Given the description of an element on the screen output the (x, y) to click on. 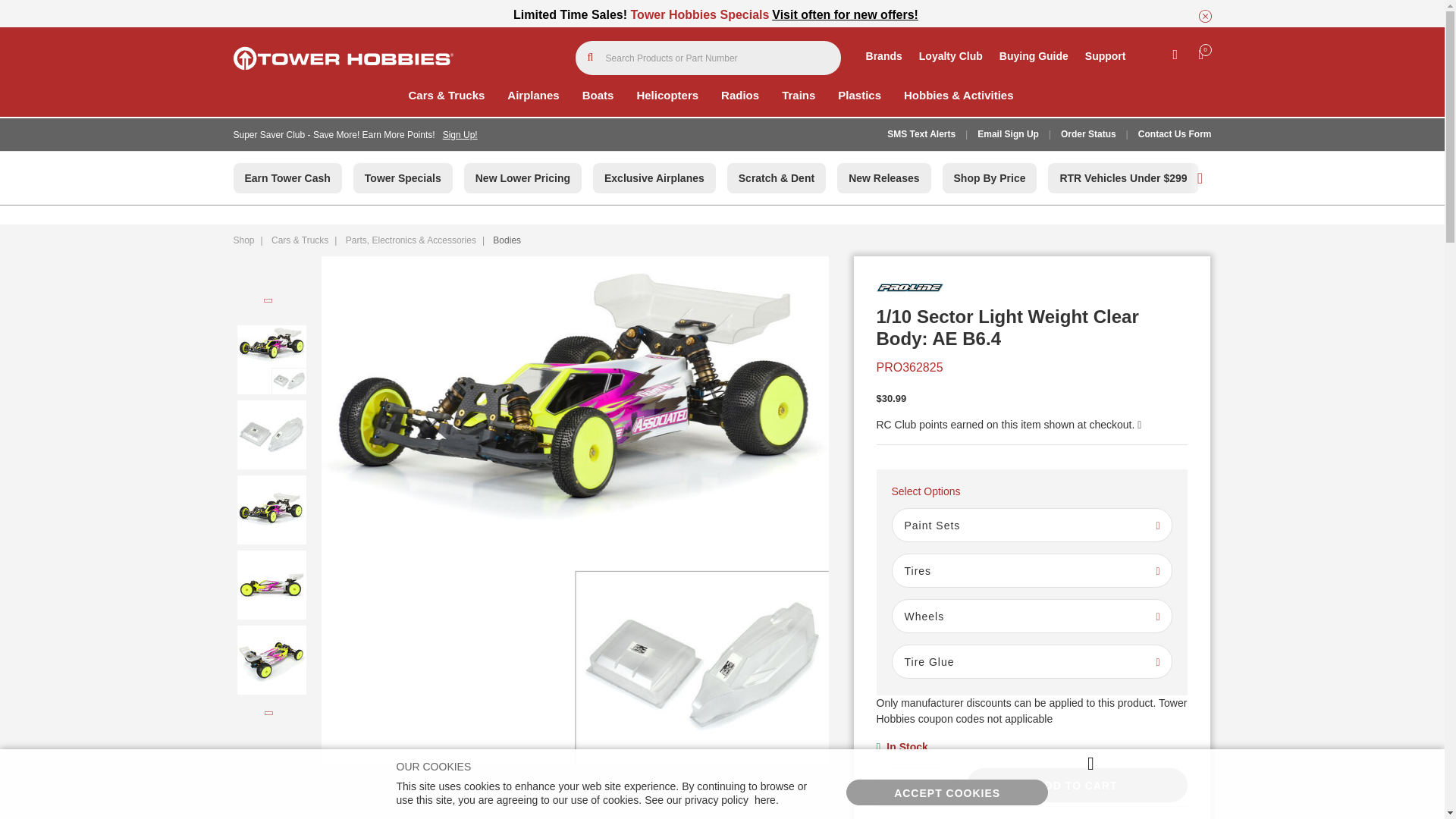
1 (916, 785)
ICON-CLOSE (1204, 15)
Tower Hobbies Home (342, 58)
